Given the description of an element on the screen output the (x, y) to click on. 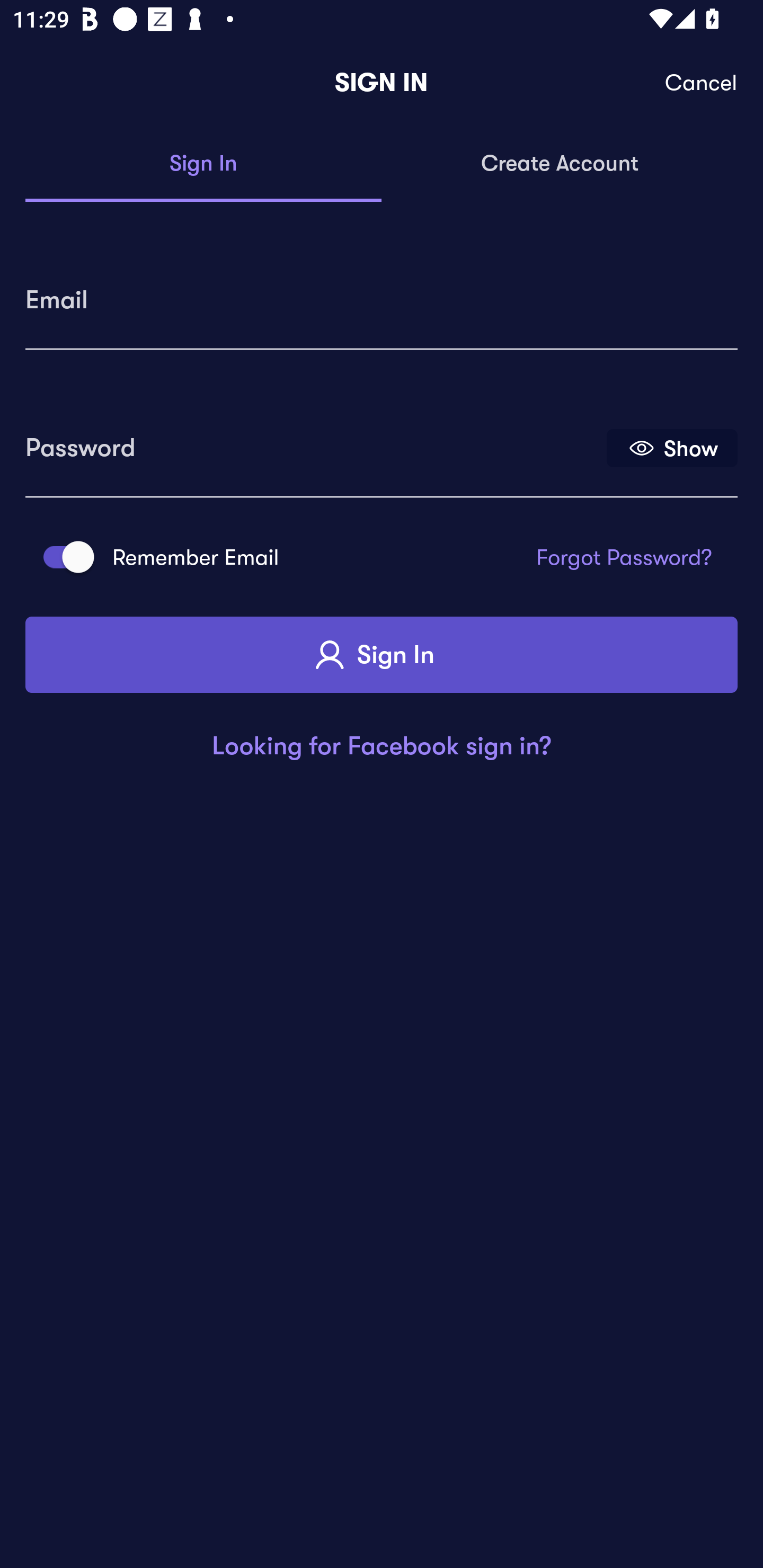
Cancel (701, 82)
Sign In (203, 164)
Create Account (559, 164)
Email (381, 293)
Password (314, 441)
Show Password Show (671, 447)
Remember Email (62, 557)
Sign In (381, 654)
